Given the description of an element on the screen output the (x, y) to click on. 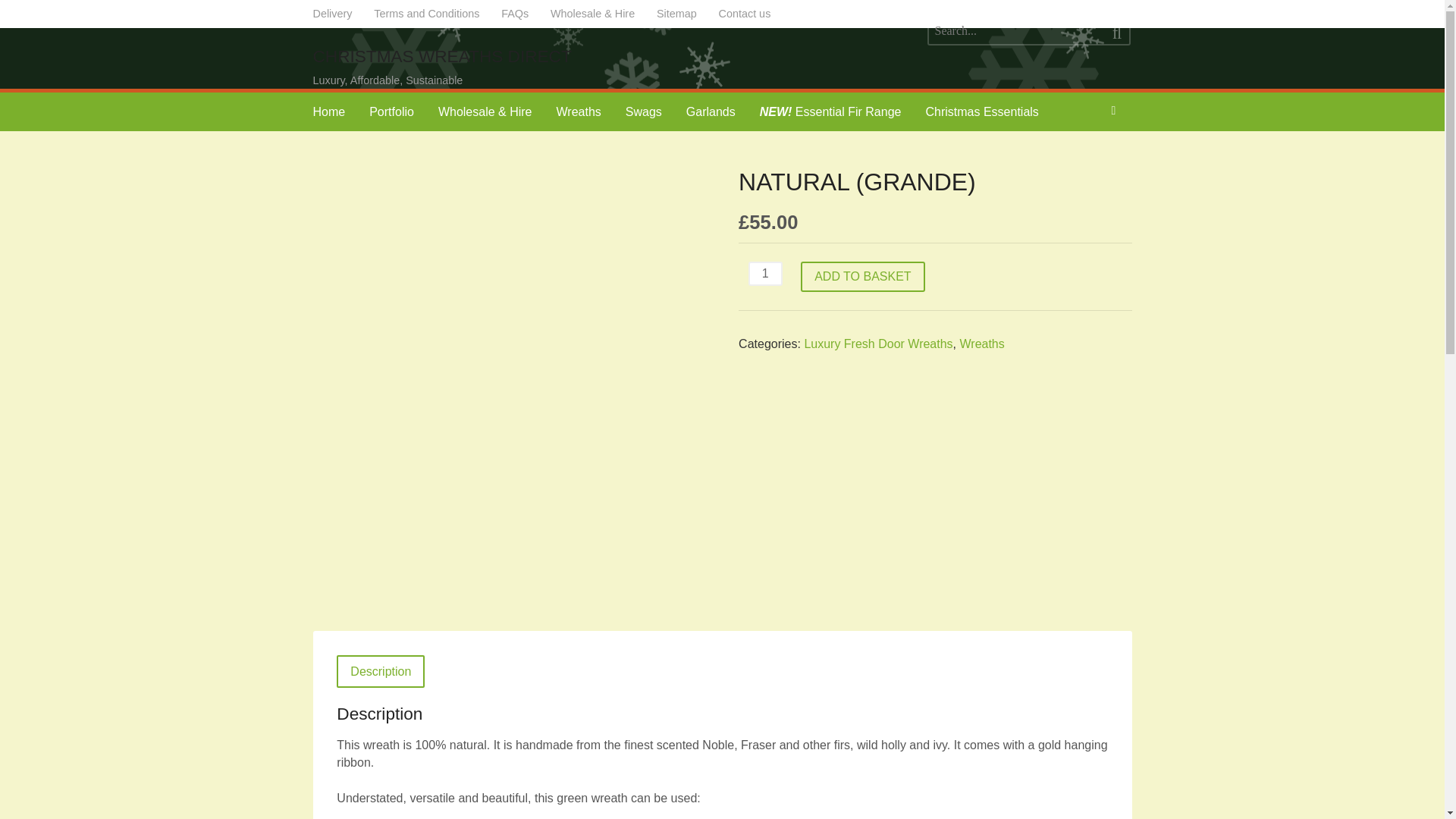
View your shopping cart (1112, 110)
Christmas Essentials (980, 111)
Garlands (711, 111)
Swags (643, 111)
CHRISTMAS WREATHS DIRECT (441, 56)
Portfolio (391, 111)
Wreaths (578, 111)
Home (327, 111)
Sitemap (676, 13)
FAQs (515, 13)
